Given the description of an element on the screen output the (x, y) to click on. 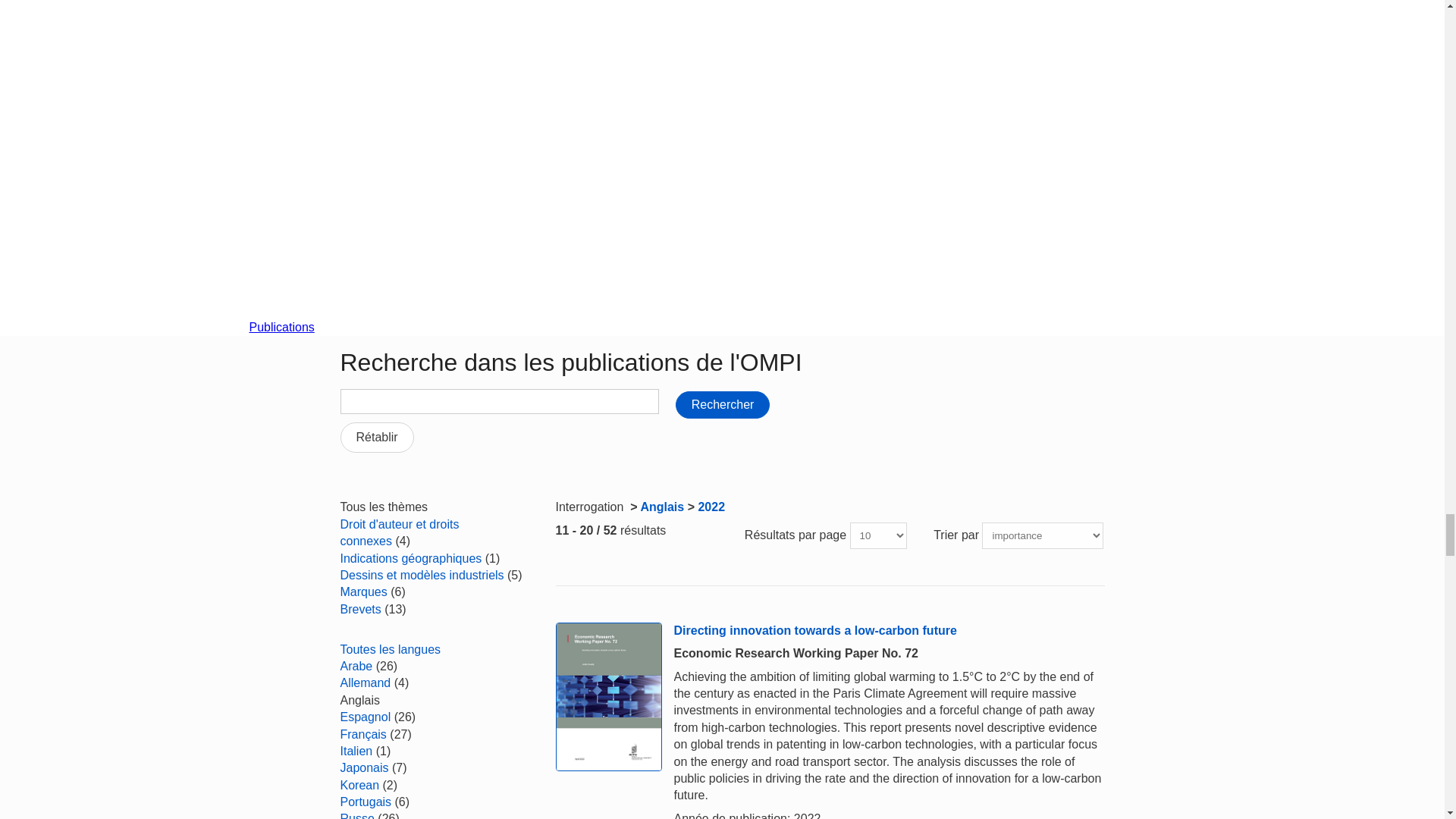
Espagnol (364, 716)
Portugais (365, 801)
Brevets (359, 608)
Arabe (355, 666)
Russe (356, 815)
Japonais (363, 767)
Droit d (398, 532)
Marques (363, 591)
Change the number of results lines (878, 535)
Italien (355, 750)
Sort by (1042, 535)
Allemand (364, 682)
Korean (358, 784)
